Given the description of an element on the screen output the (x, y) to click on. 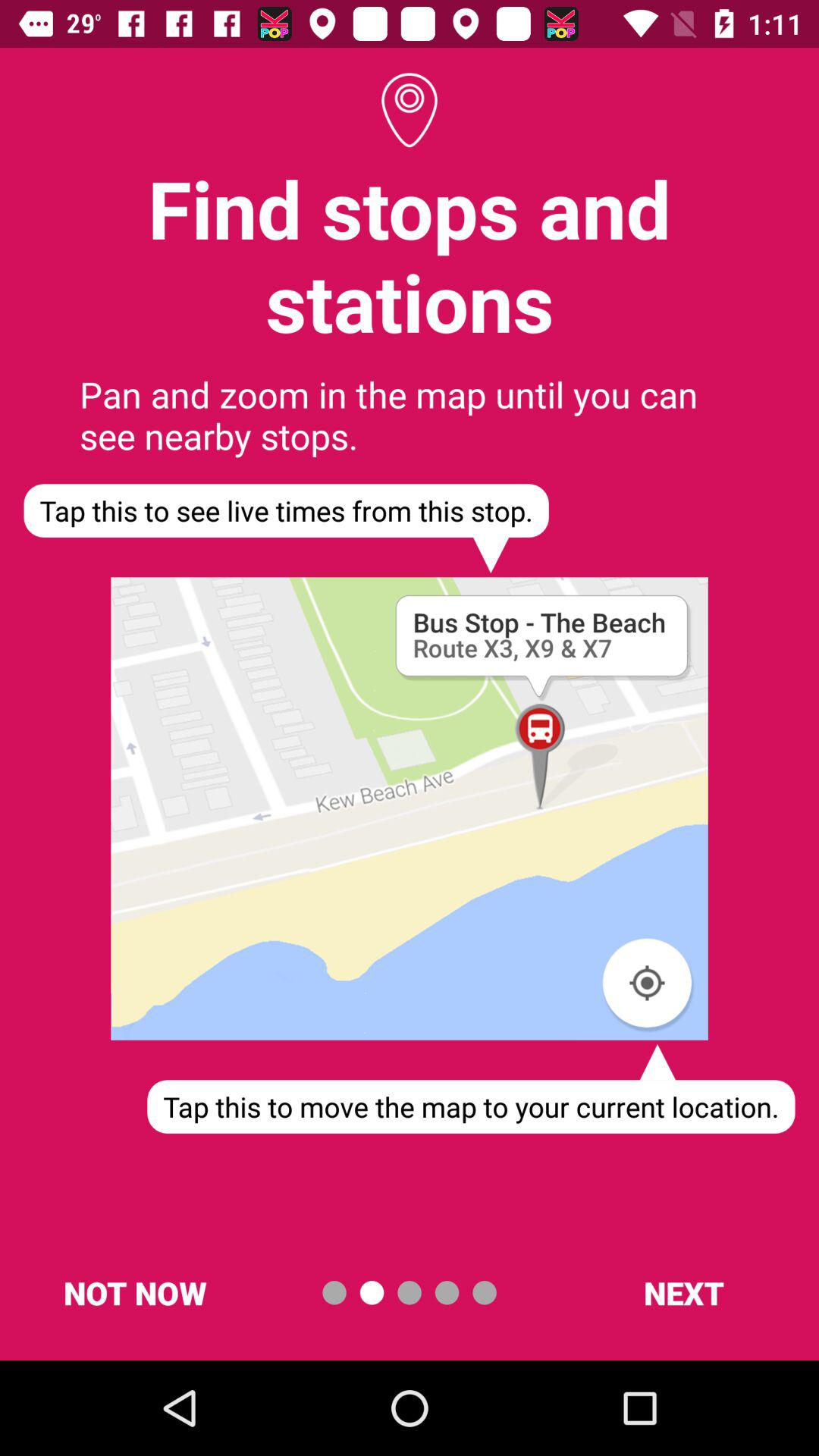
select not now button (134, 1292)
